Given the description of an element on the screen output the (x, y) to click on. 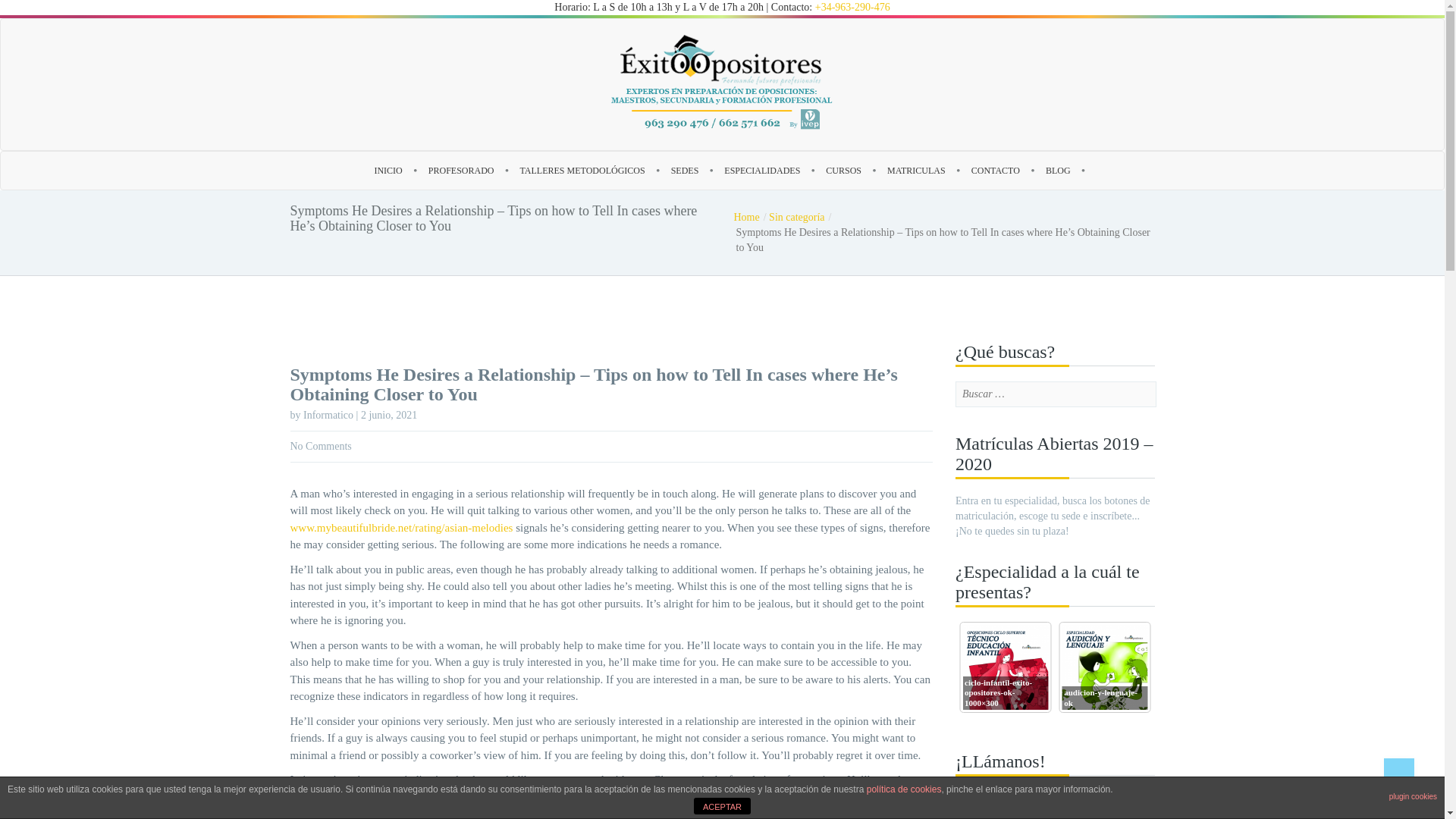
SEDES (684, 170)
INICIO (387, 170)
ESPECIALIDADES (761, 170)
PROFESORADO (460, 170)
MATRICULAS (916, 170)
BLOG (1057, 170)
Home (750, 216)
CURSOS (843, 170)
Search (91, 14)
Acceder (672, 488)
